Given the description of an element on the screen output the (x, y) to click on. 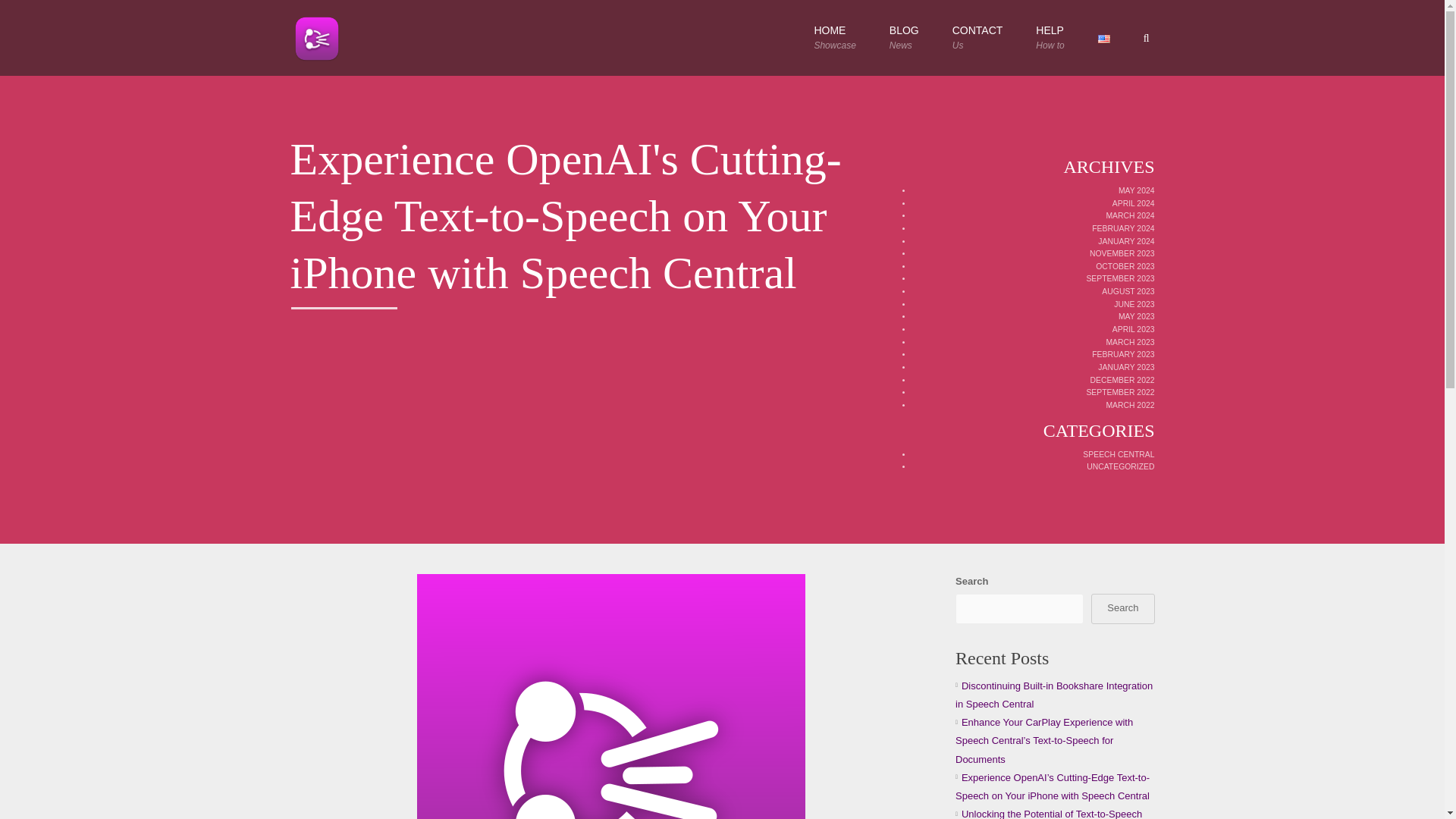
FEBRUARY 2023 (1123, 354)
FEBRUARY 2024 (1123, 228)
MAY 2023 (1136, 316)
JANUARY 2024 (1125, 241)
DECEMBER 2022 (1122, 379)
SPEECH CENTRAL (1118, 454)
MARCH 2024 (1129, 215)
MARCH 2023 (1129, 342)
SEPTEMBER 2023 (1120, 278)
NOVEMBER 2023 (1121, 253)
OCTOBER 2023 (1125, 266)
APRIL 2023 (1133, 329)
MARCH 2022 (1129, 405)
APRIL 2024 (1133, 203)
JUNE 2023 (1133, 304)
